Given the description of an element on the screen output the (x, y) to click on. 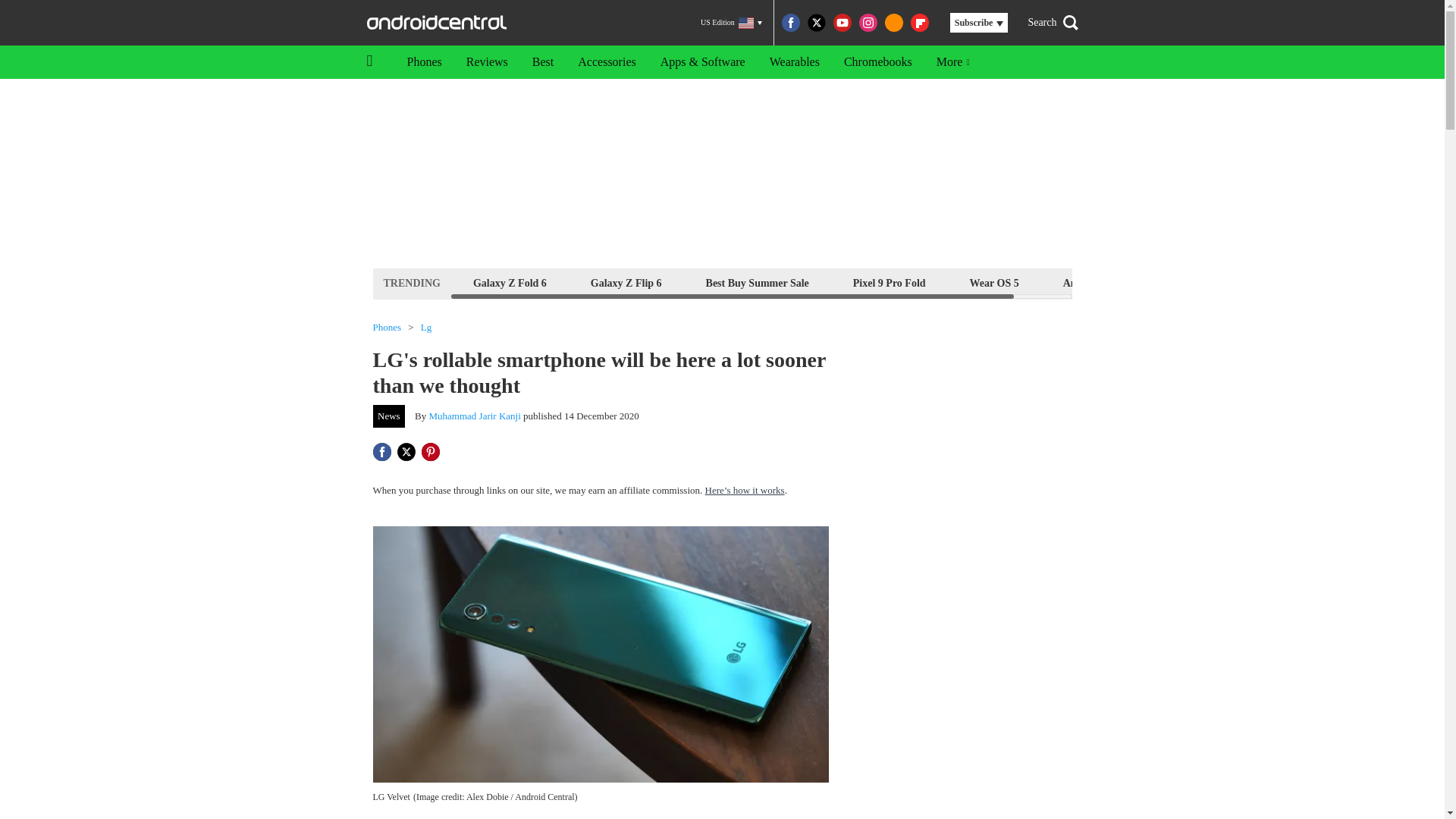
Muhammad Jarir Kanji (475, 415)
Android 15 (1088, 282)
Best (542, 61)
US Edition (731, 22)
Accessories (606, 61)
Galaxy Z Flip 6 (625, 282)
Chromebooks (877, 61)
Reviews (486, 61)
Galaxy Z Fold 6 (509, 282)
Best Buy Summer Sale (756, 282)
Wear OS 5 (994, 282)
Phones (423, 61)
Wearables (794, 61)
Pixel 9 Pro Fold (889, 282)
News (389, 415)
